Given the description of an element on the screen output the (x, y) to click on. 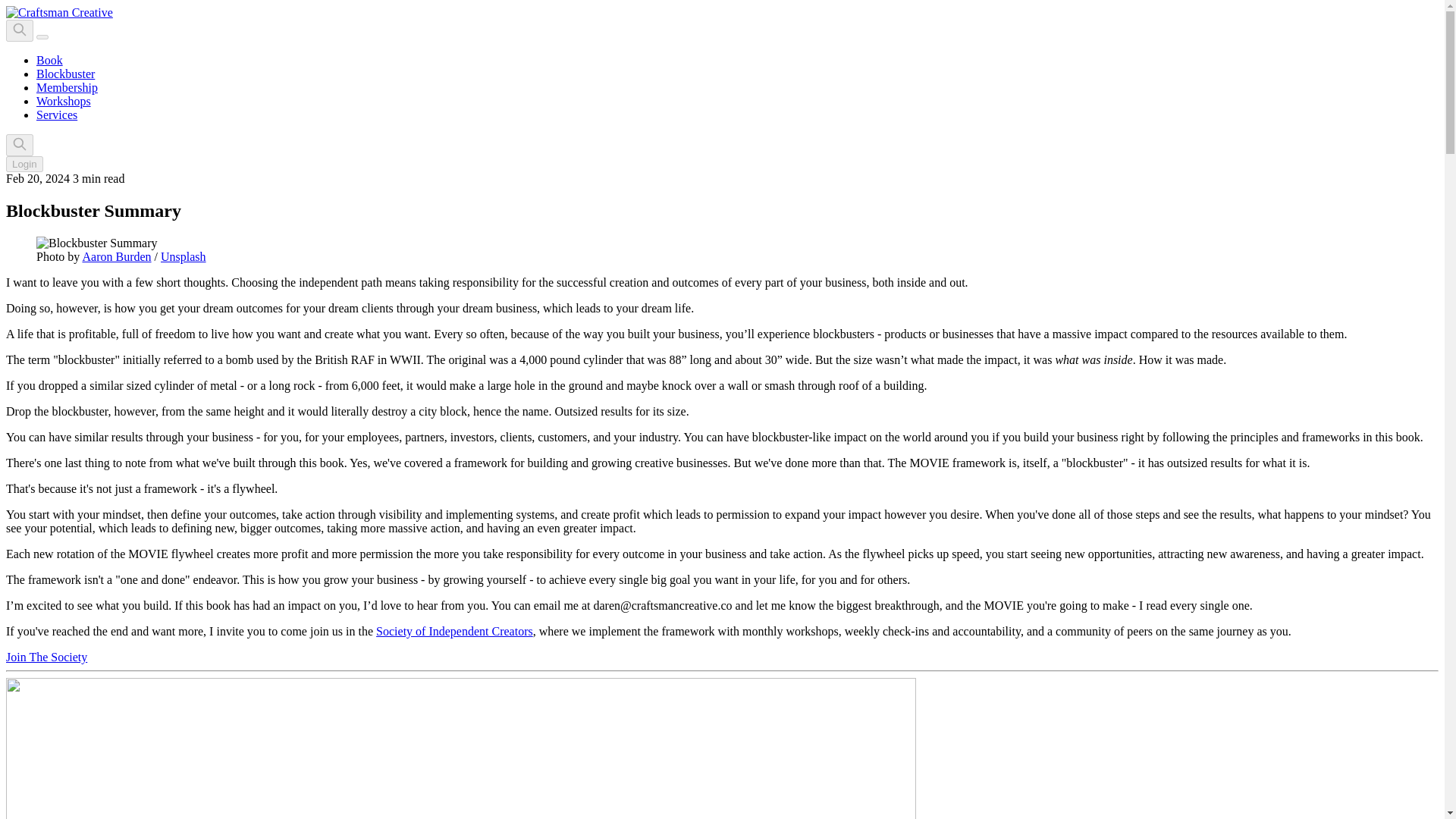
Services (56, 114)
Society of Independent Creators (453, 631)
Unsplash (183, 256)
Login (24, 163)
Book (49, 60)
Blockbuster (65, 73)
Aaron Burden (116, 256)
Workshops (63, 101)
Membership (66, 87)
Join The Society (46, 656)
